Given the description of an element on the screen output the (x, y) to click on. 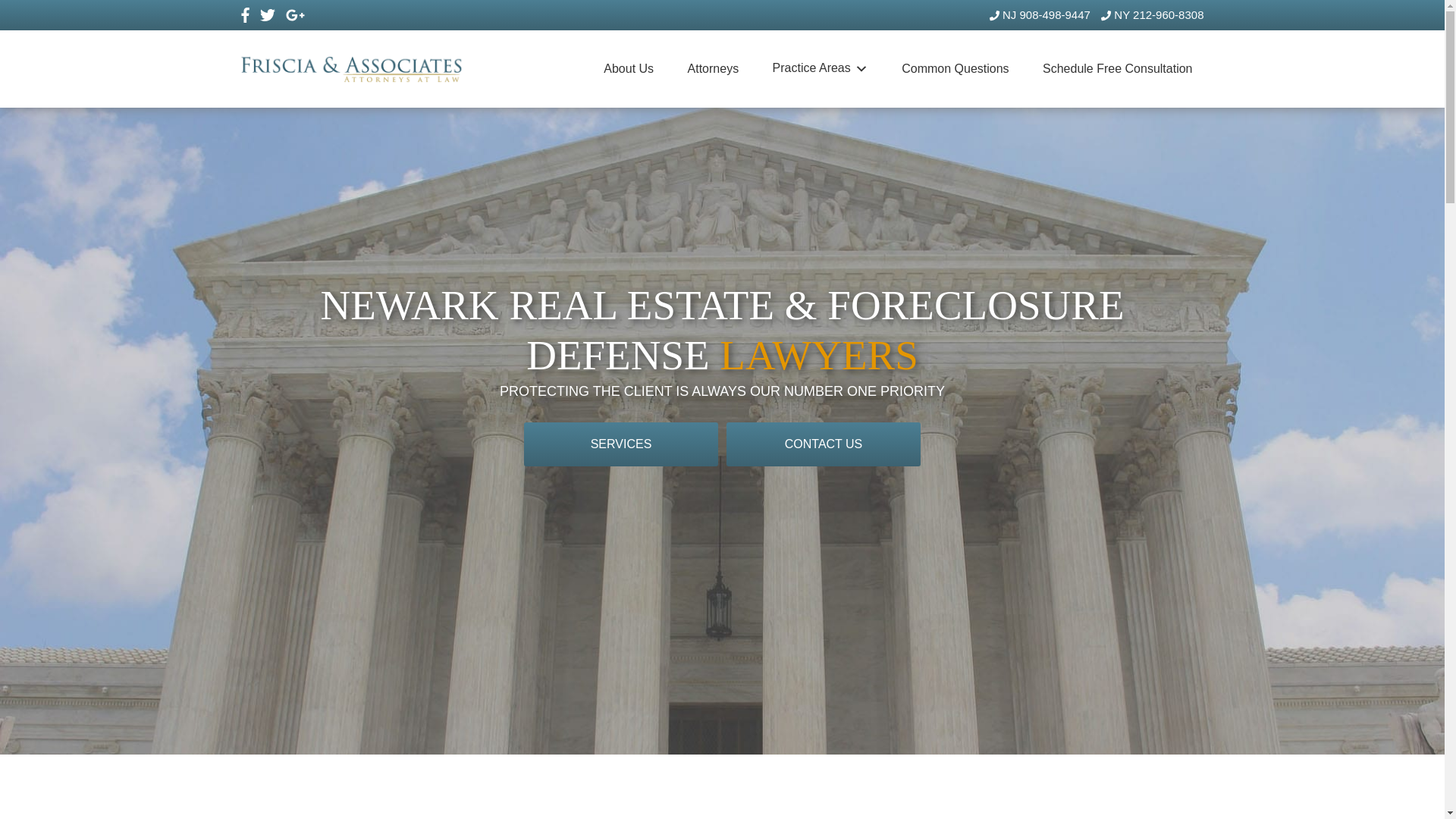
NY 212-960-8308 (1152, 14)
CONTACT US (823, 444)
Attorneys (713, 68)
Schedule Free Consultation (1117, 68)
Common Questions (954, 68)
NJ 908-498-9447 (1040, 14)
SERVICES (620, 444)
Practice Areas (820, 68)
About Us (628, 68)
